Given the description of an element on the screen output the (x, y) to click on. 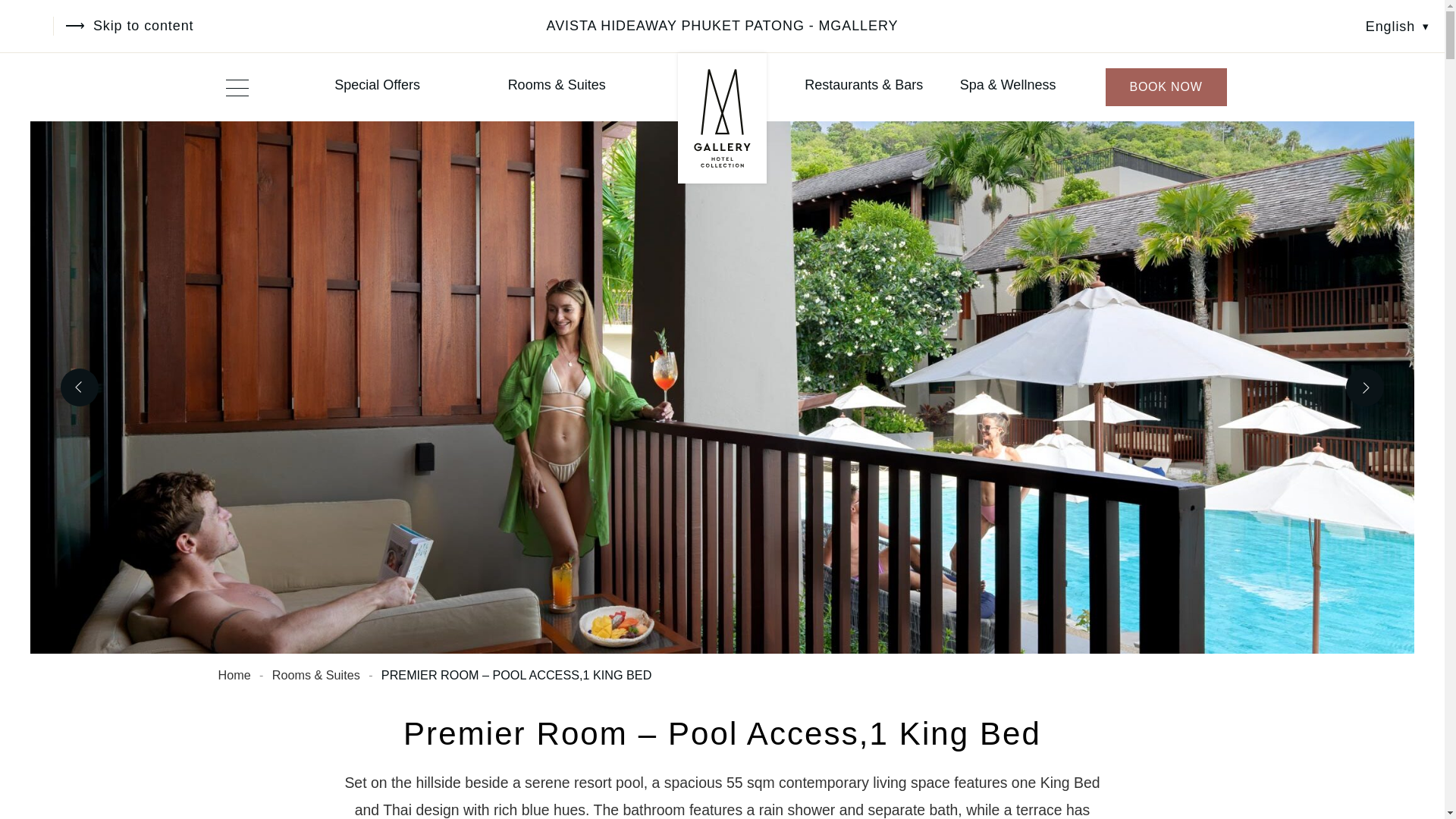
English (1397, 25)
Skip to content (129, 26)
Book a room (1166, 86)
Open main navigation menu (237, 86)
AVISTA HIDEAWAY PHUKET PATONG - MGALLERY (721, 26)
Accessibility Options (33, 26)
